Given the description of an element on the screen output the (x, y) to click on. 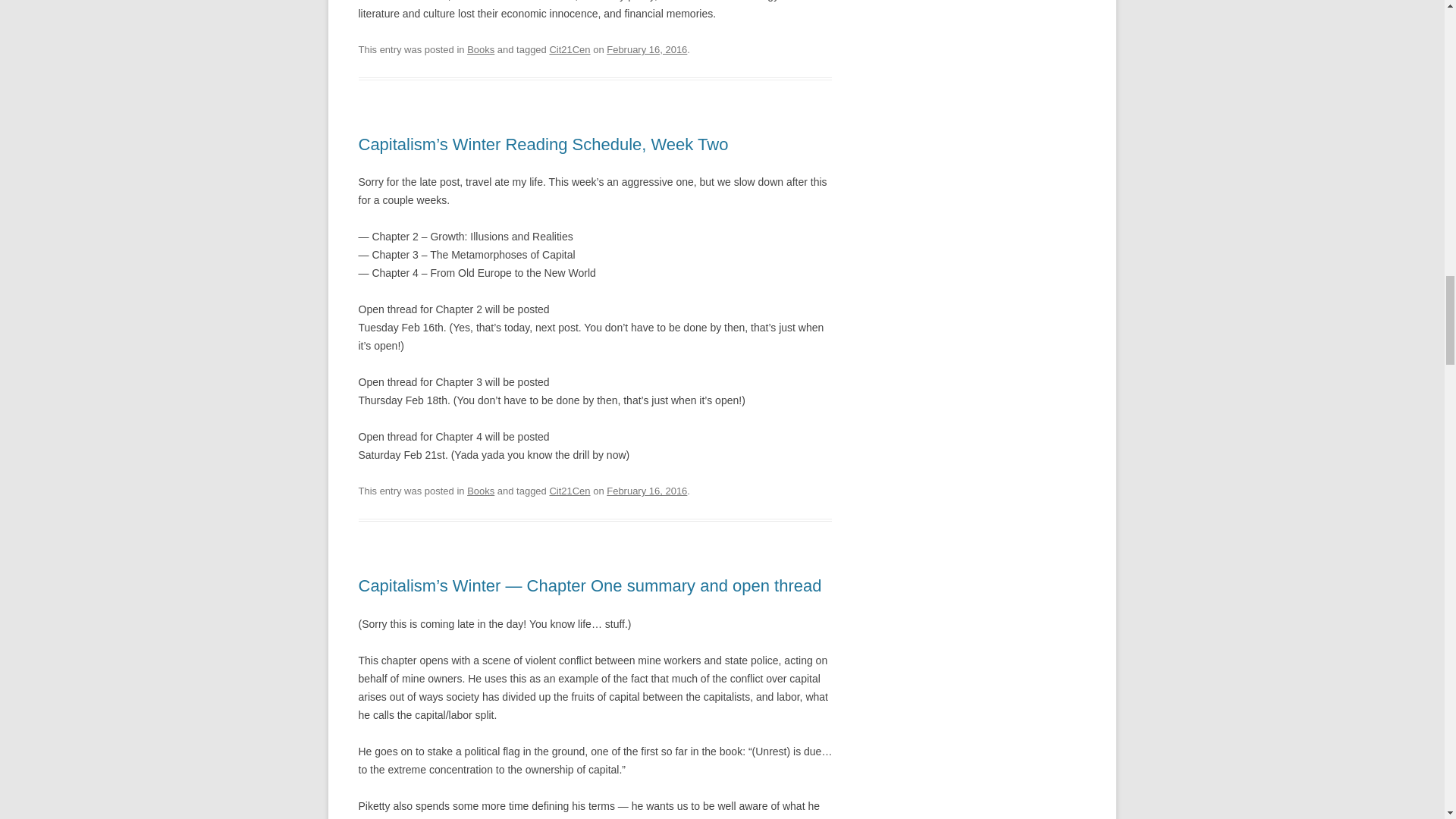
Books (481, 49)
Cit21Cen (568, 490)
Books (481, 490)
5:00 pm (647, 49)
4:37 pm (647, 490)
February 16, 2016 (647, 49)
February 16, 2016 (647, 490)
Cit21Cen (568, 49)
